Given the description of an element on the screen output the (x, y) to click on. 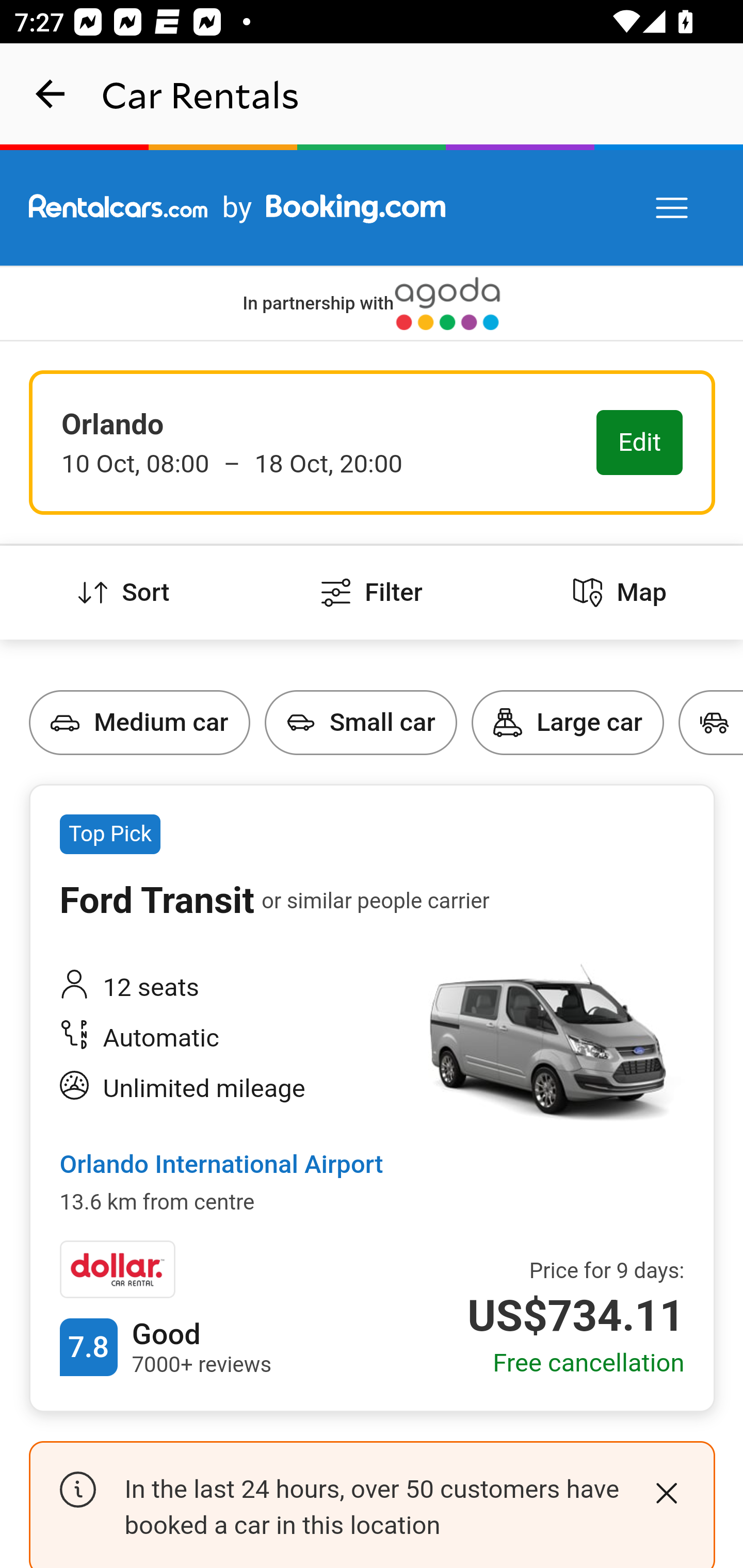
navigation_button (50, 93)
Menu (672, 208)
Edit (639, 443)
Sort (124, 592)
Filter (371, 592)
Show medium cars (30, 689)
Show small cars (265, 689)
Show large cars (471, 689)
12 seats (225, 987)
Automatic (225, 1039)
Unlimited mileage (225, 1088)
Orlando International Airport (220, 1165)
Close (666, 1494)
